Given the description of an element on the screen output the (x, y) to click on. 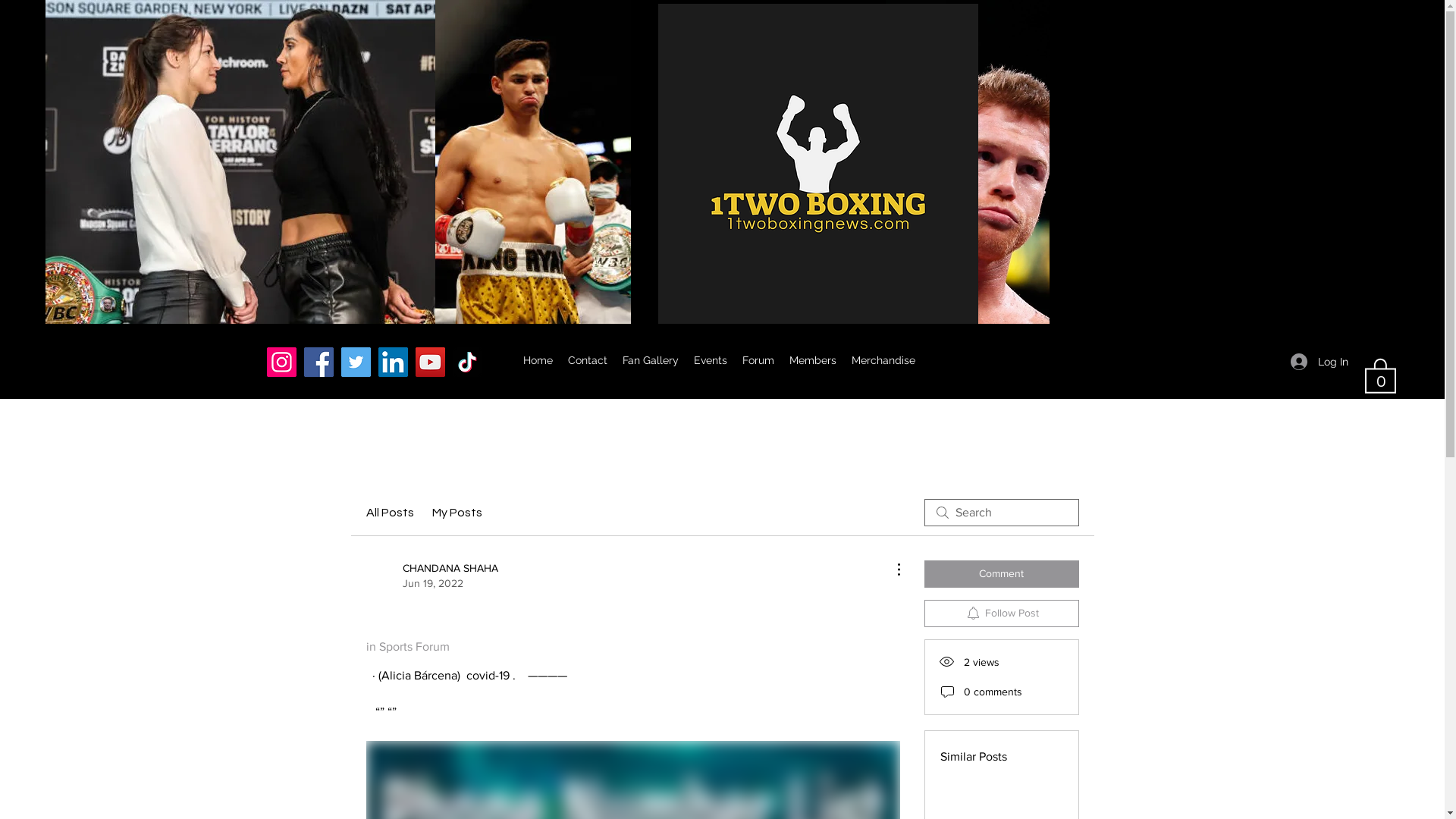
Home Element type: text (537, 360)
Fan Gallery Element type: text (649, 360)
Log In Element type: text (1319, 362)
Forum Element type: text (757, 360)
Merchandise Element type: text (882, 360)
Members Element type: text (812, 360)
Events Element type: text (709, 360)
Contact Element type: text (586, 360)
0 Element type: text (1380, 374)
